Given the description of an element on the screen output the (x, y) to click on. 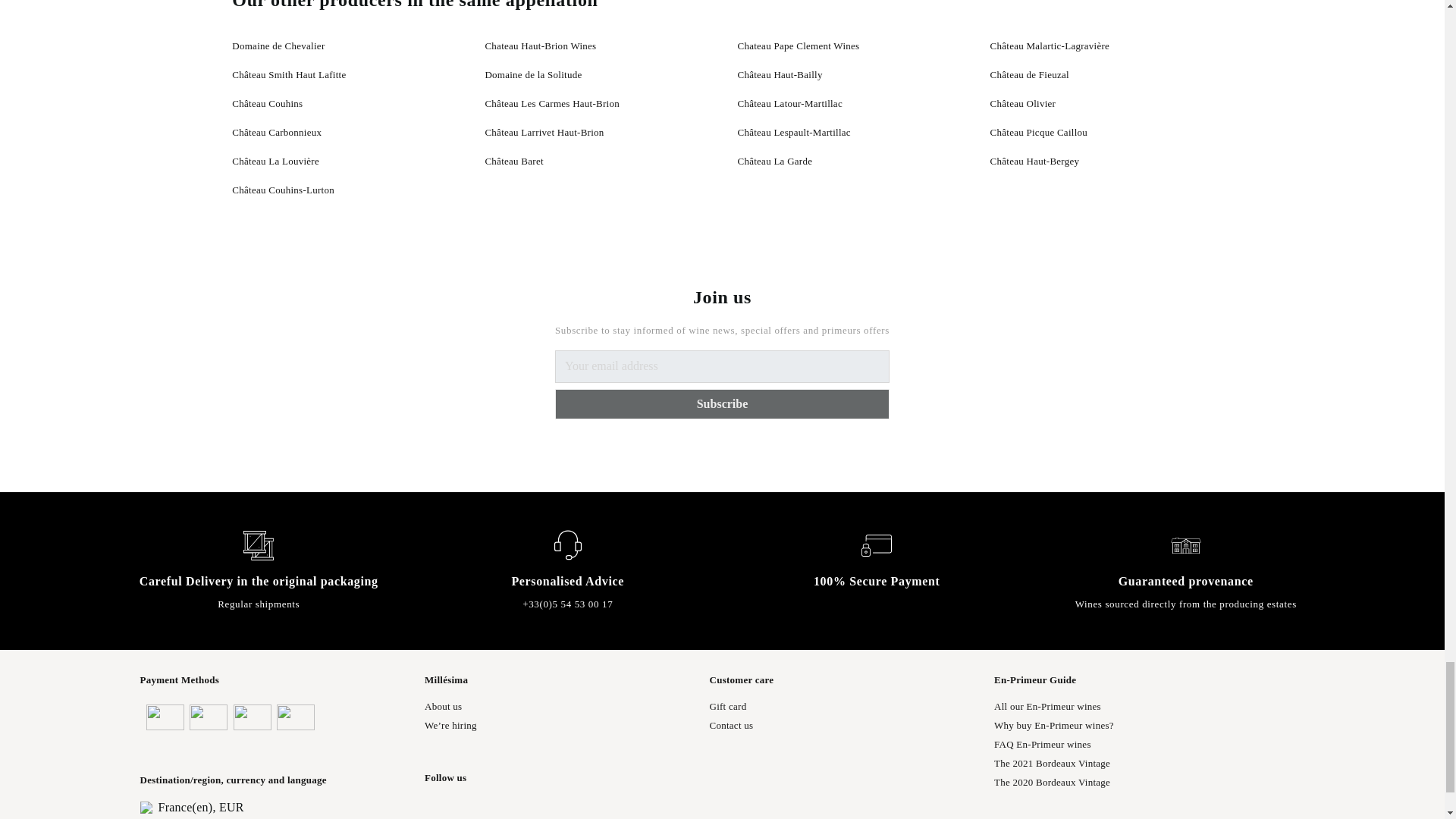
E-mail (721, 366)
